Given the description of an element on the screen output the (x, y) to click on. 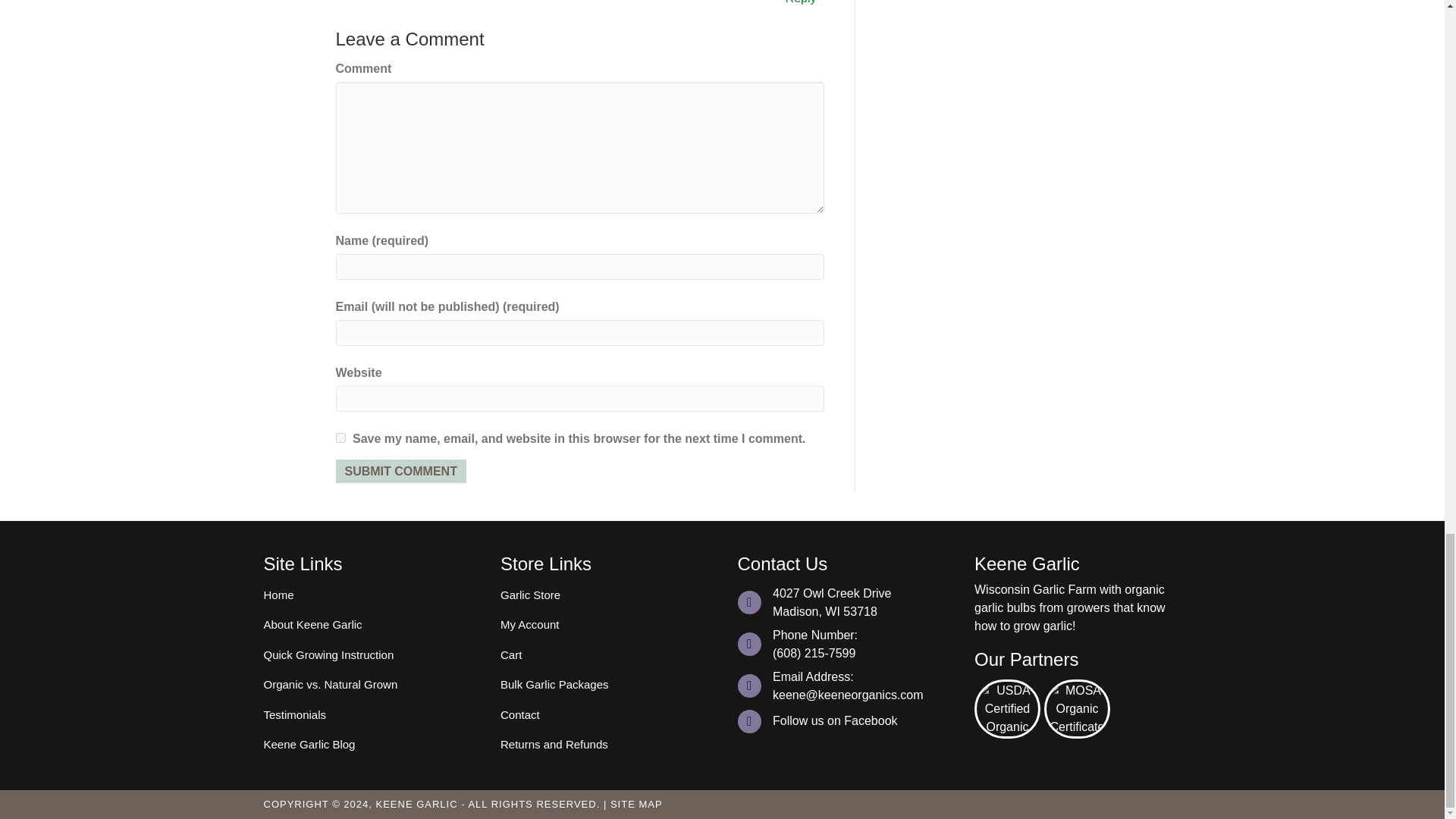
USDA Certified Organic (1007, 708)
yes (339, 438)
Submit Comment (399, 471)
MOSA Organic Certificate (1077, 708)
